Given the description of an element on the screen output the (x, y) to click on. 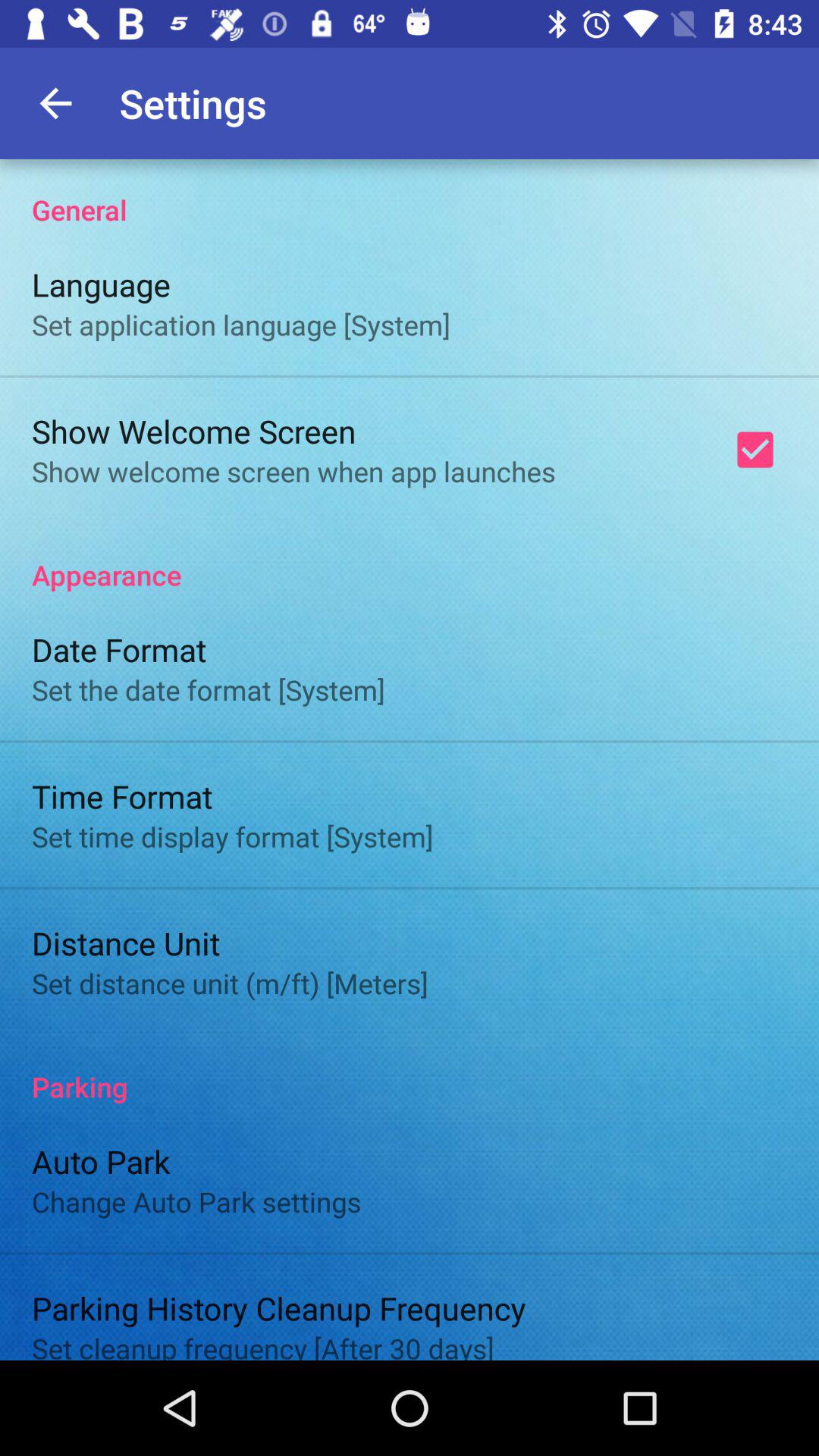
tap the app to the left of settings app (55, 103)
